Given the description of an element on the screen output the (x, y) to click on. 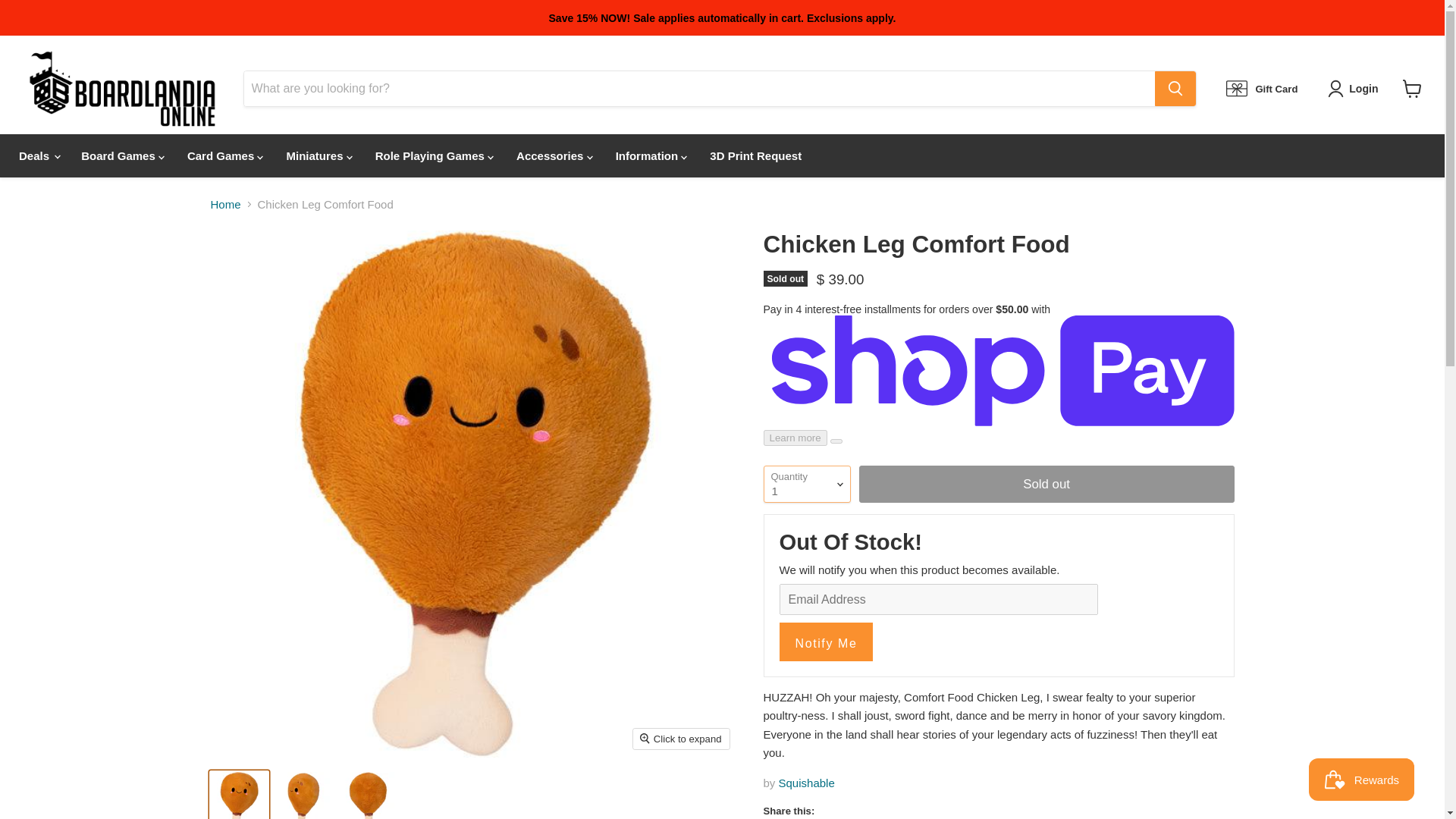
Gift Card (1261, 88)
Squishable (806, 782)
View cart (1411, 88)
Login (1363, 88)
